Given the description of an element on the screen output the (x, y) to click on. 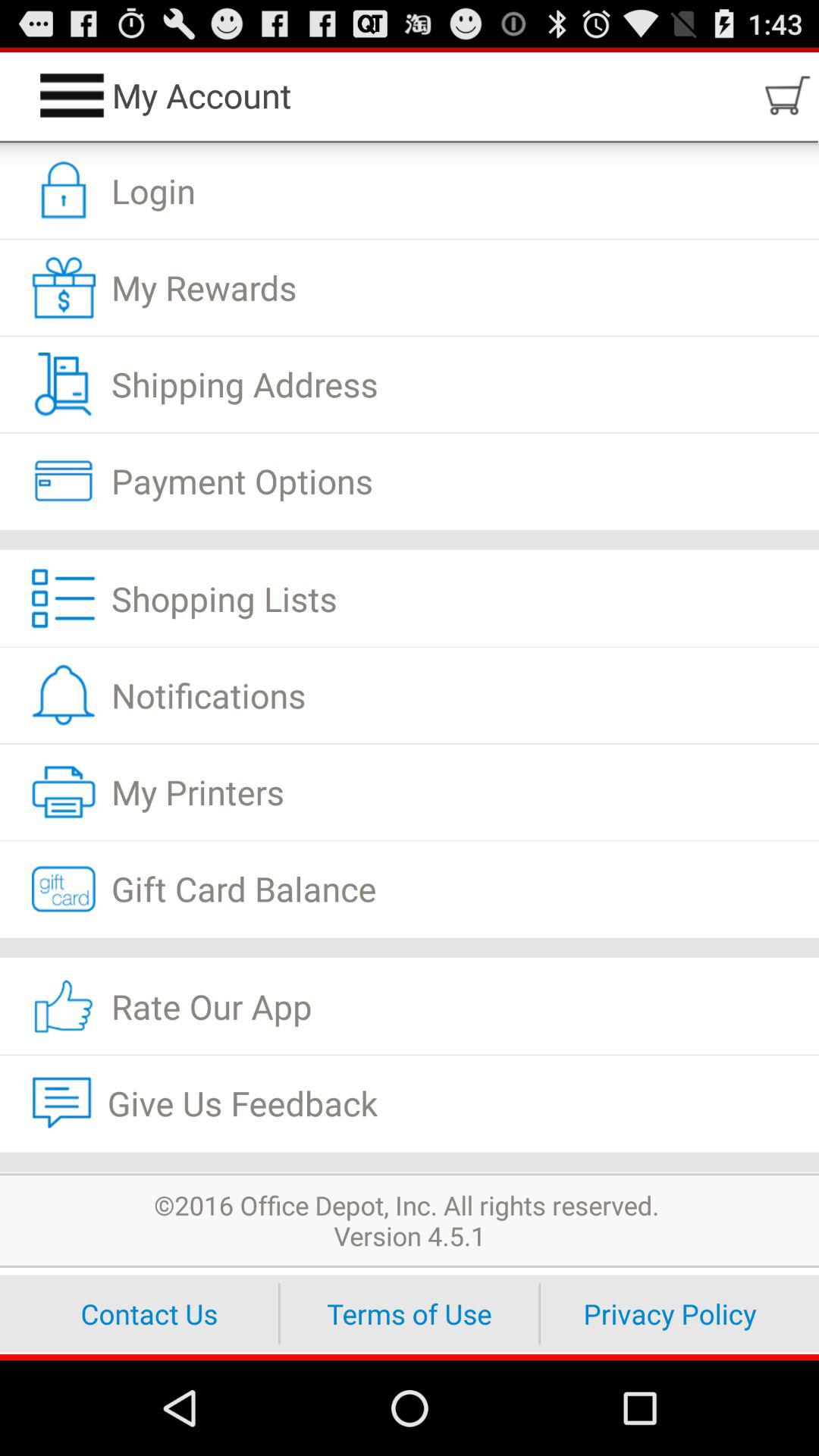
select the privacy policy item (669, 1313)
